Given the description of an element on the screen output the (x, y) to click on. 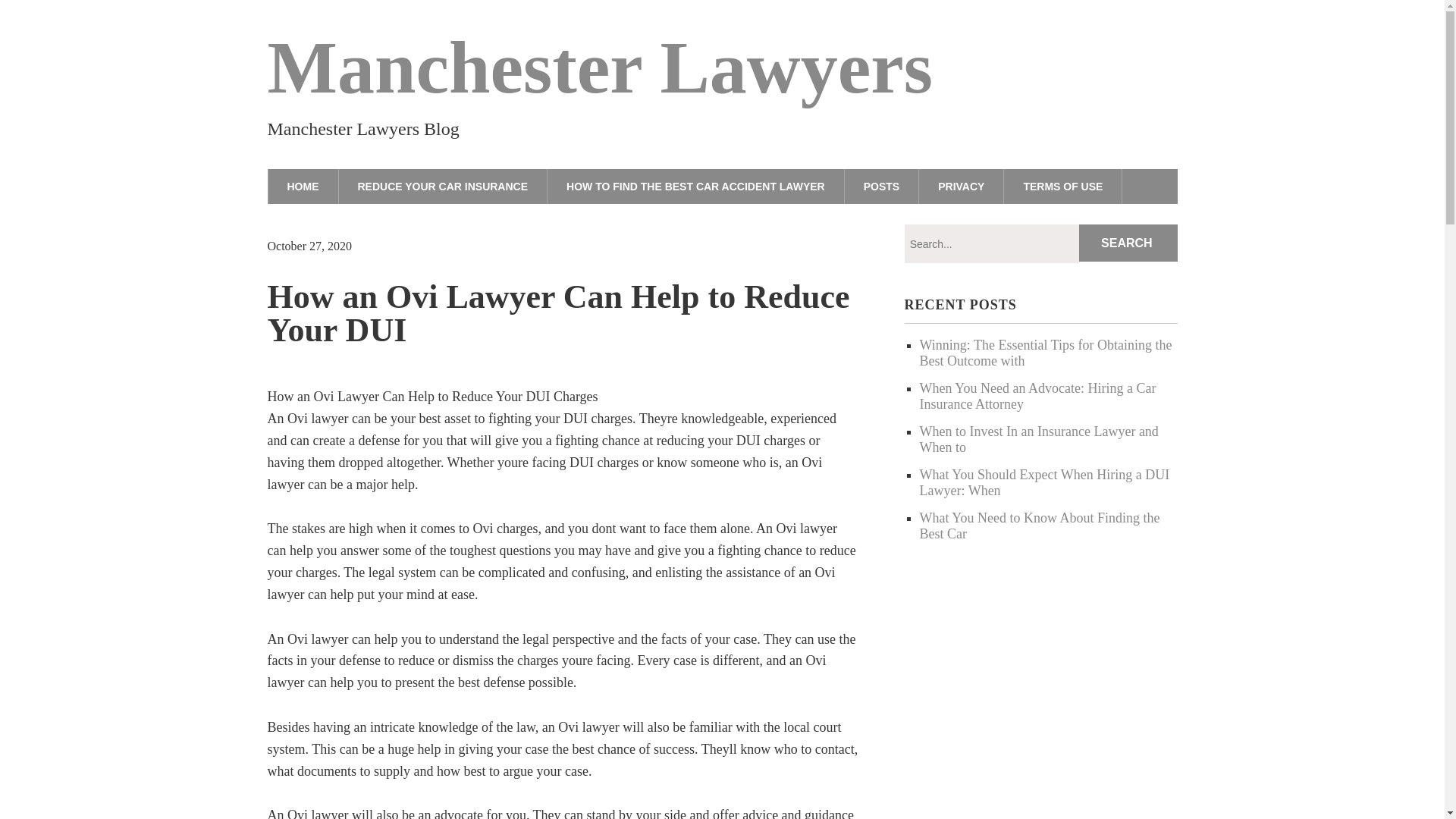
HOME (301, 185)
HOW TO FIND THE BEST CAR ACCIDENT LAWYER (695, 185)
TERMS OF USE (1063, 185)
PRIVACY (961, 185)
POSTS (881, 185)
Manchester Lawyers (598, 67)
REDUCE YOUR CAR INSURANCE (442, 185)
Search (1127, 242)
Manchester Lawyers (598, 67)
